Given the description of an element on the screen output the (x, y) to click on. 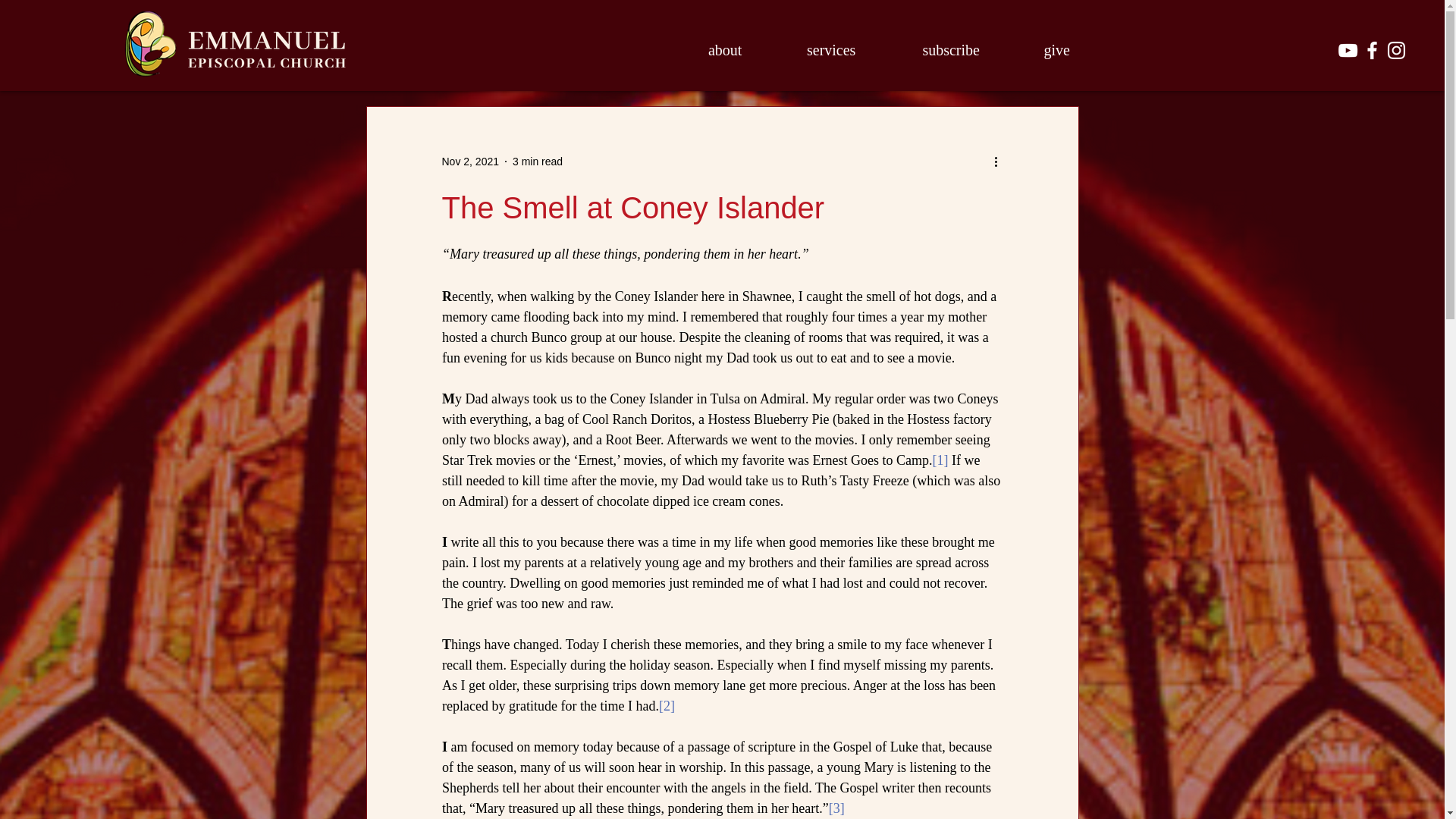
subscribe (950, 50)
services (831, 50)
Nov 2, 2021 (470, 160)
about (725, 50)
give (1056, 50)
3 min read (537, 160)
